Given the description of an element on the screen output the (x, y) to click on. 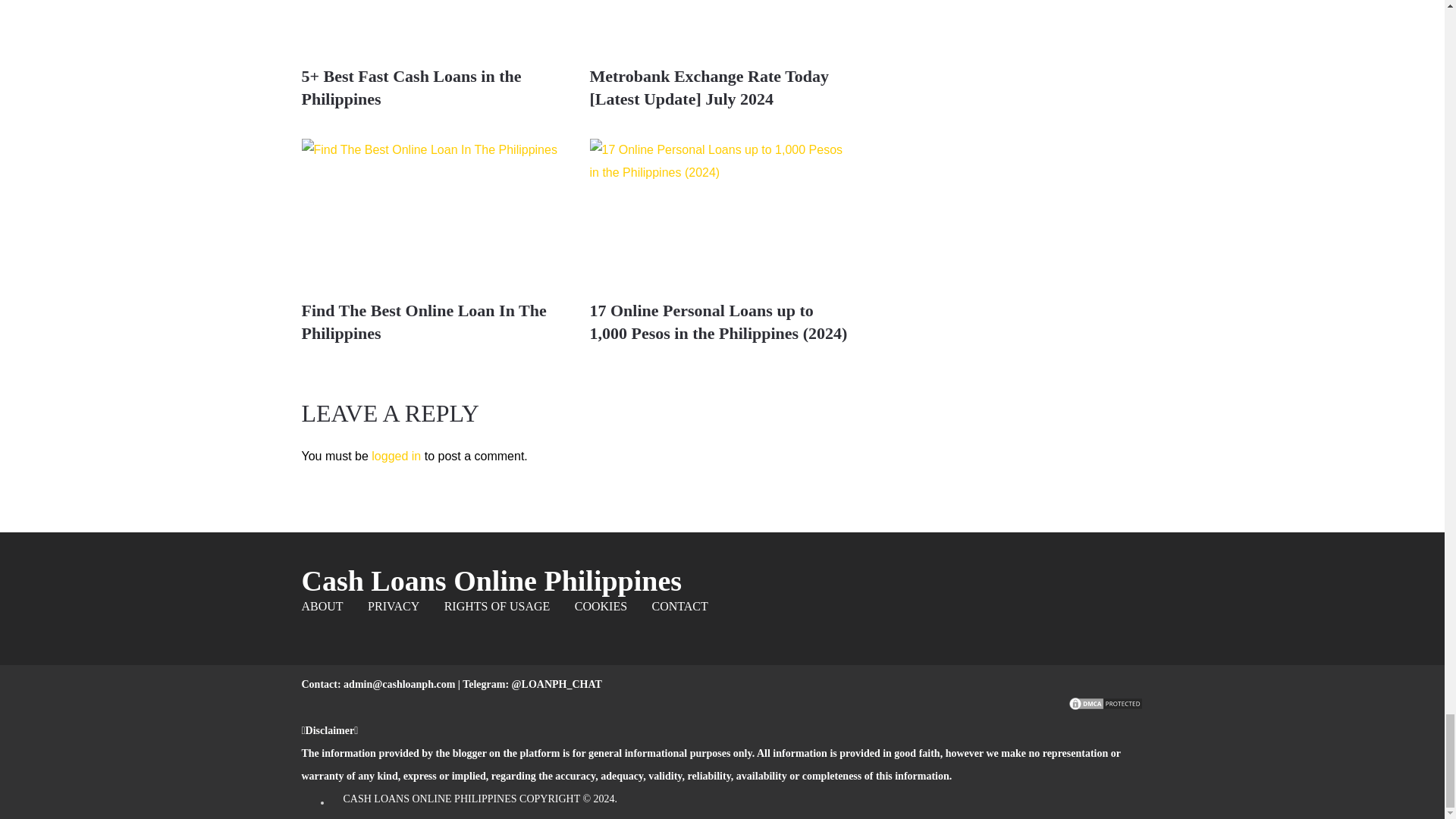
Find The Best Online Loan In The Philippines (434, 213)
Find The Best Online Loan In The Philippines (424, 322)
